Given the description of an element on the screen output the (x, y) to click on. 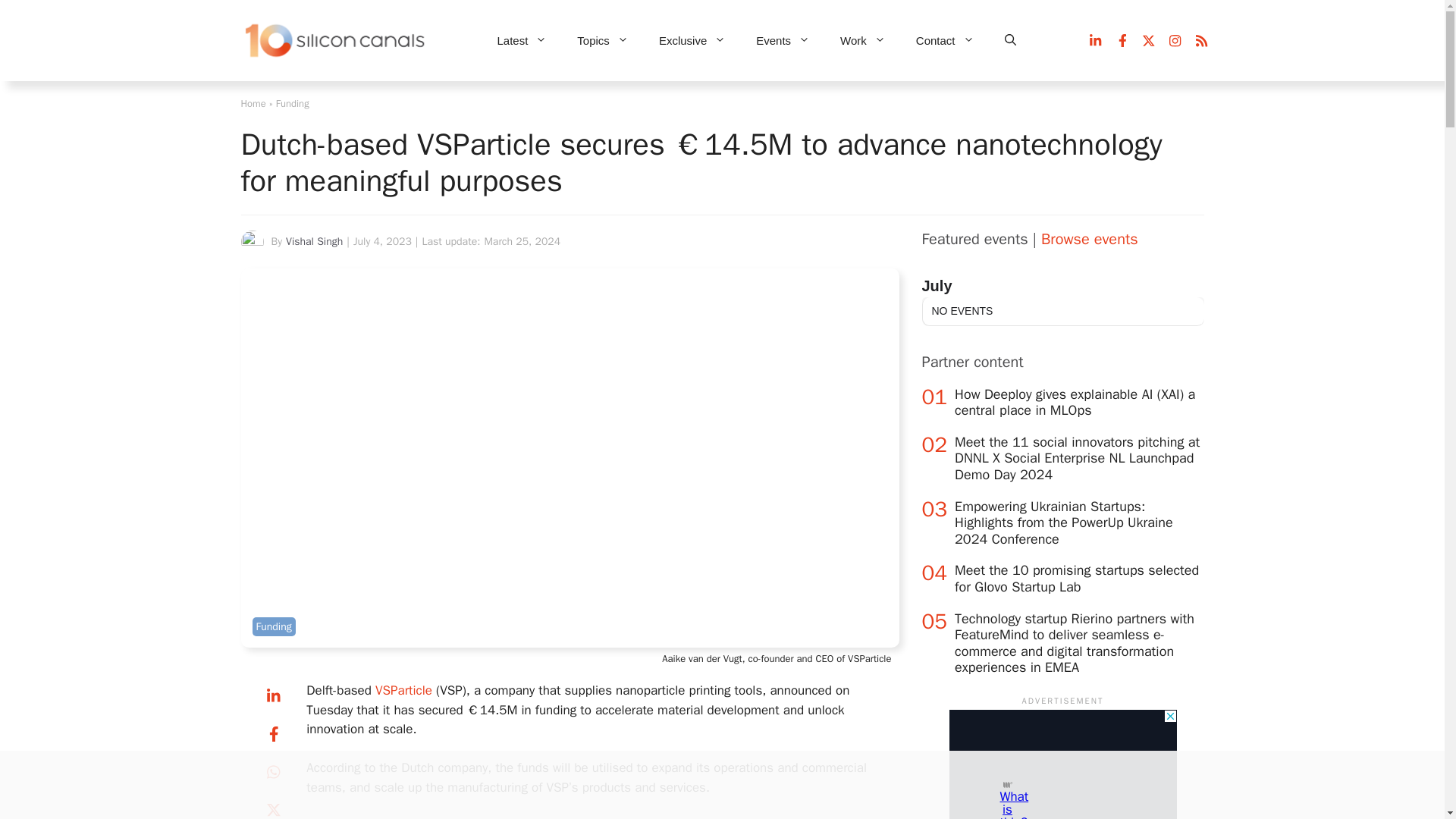
Exclusive (692, 40)
Events (783, 40)
SC 10 year horizontal (335, 40)
Topics (602, 40)
Work (863, 40)
Latest (521, 40)
3rd party ad content (708, 785)
3rd party ad content (1062, 764)
